Given the description of an element on the screen output the (x, y) to click on. 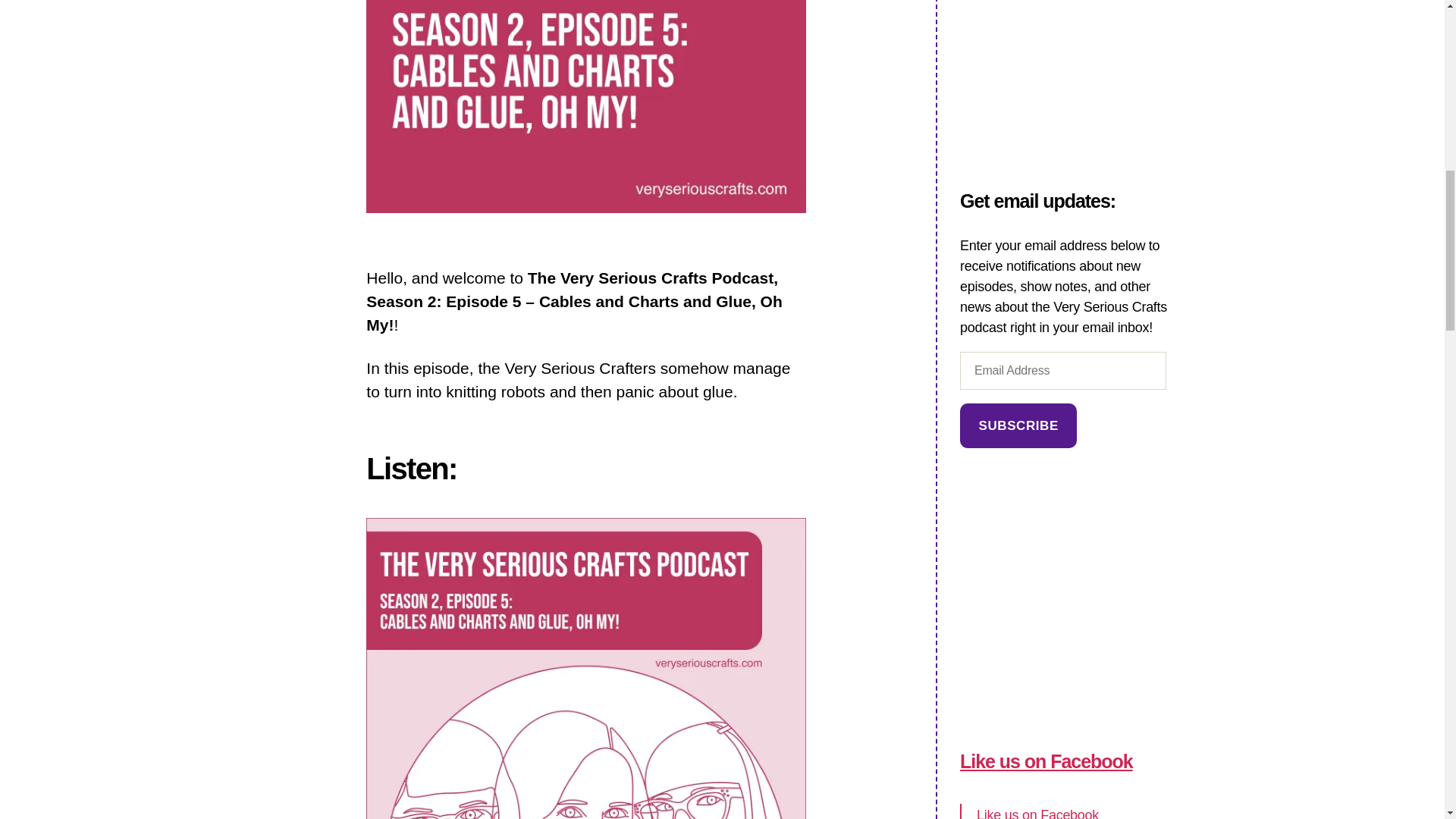
Support us on Patreon (1067, 22)
